Given the description of an element on the screen output the (x, y) to click on. 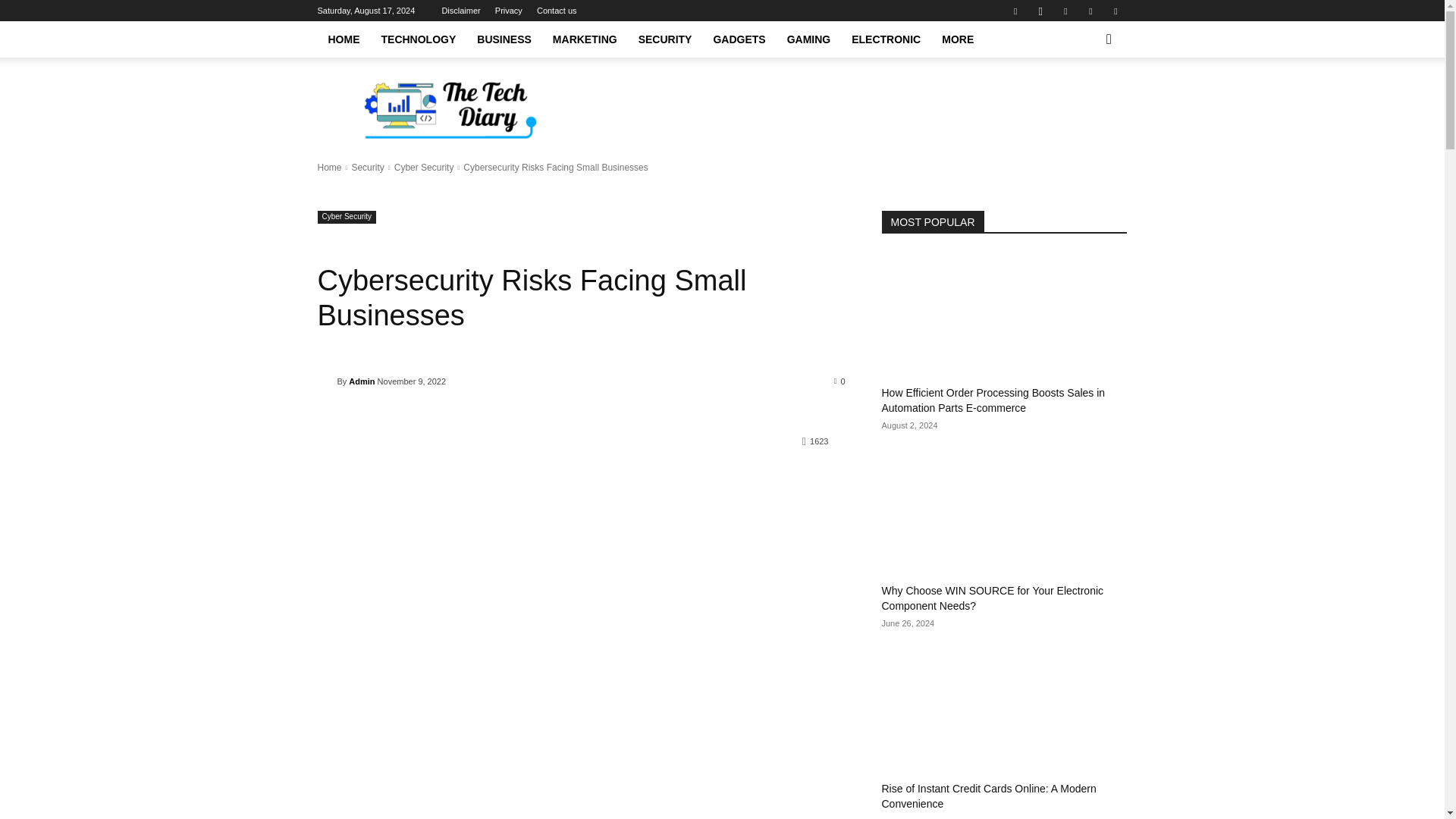
View all posts in Security (367, 167)
Vimeo (1090, 10)
Facebook (1015, 10)
Admin (326, 381)
View all posts in Cyber Security (424, 167)
Twitter (1065, 10)
Instagram (1040, 10)
Youtube (1114, 10)
